Given the description of an element on the screen output the (x, y) to click on. 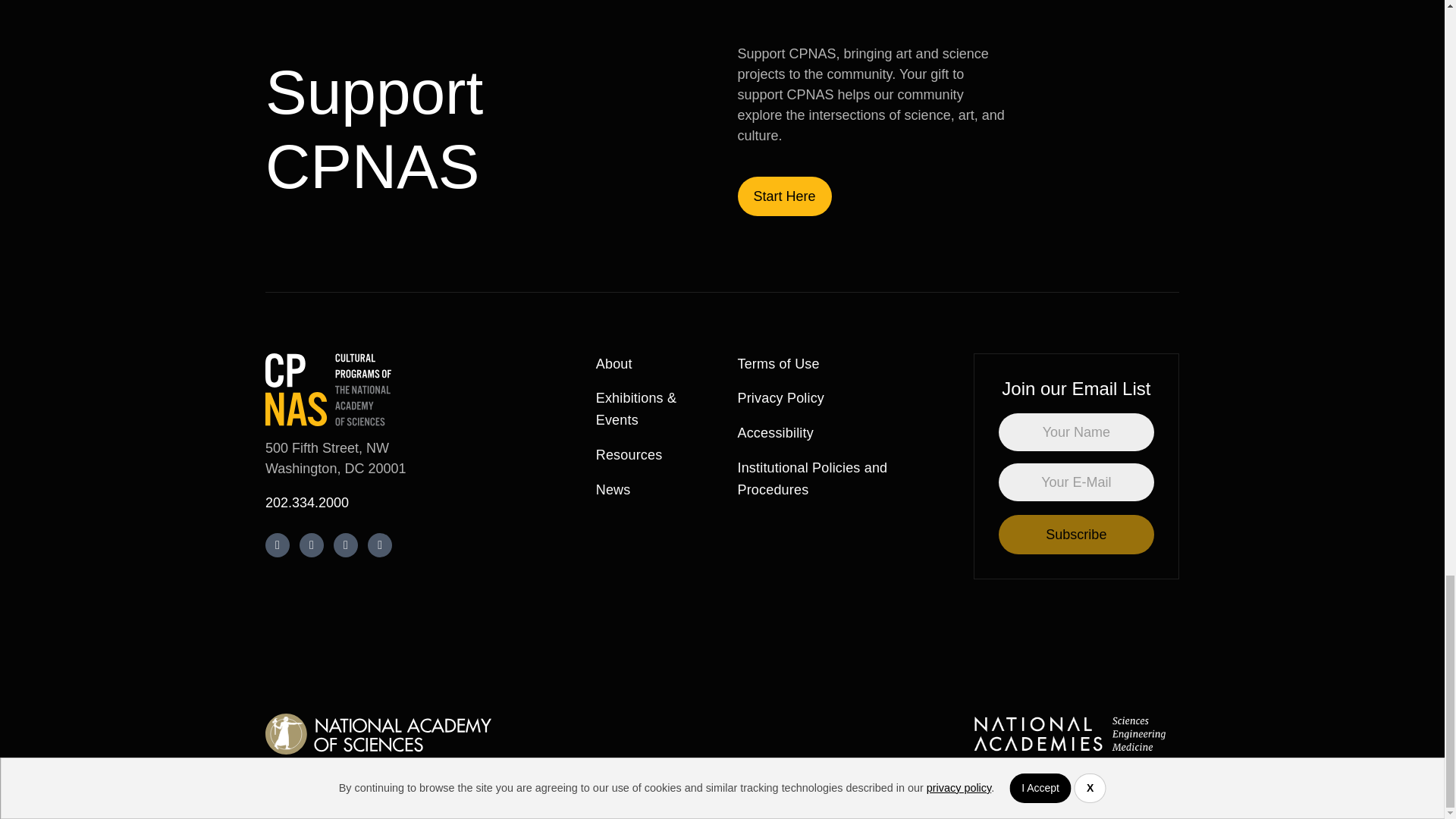
CPNAS-logo-invert (327, 388)
Start Here (783, 196)
Subscribe (1076, 534)
CPNAS-national-academy-of-sciences (378, 733)
202.334.2000 (306, 502)
